Given the description of an element on the screen output the (x, y) to click on. 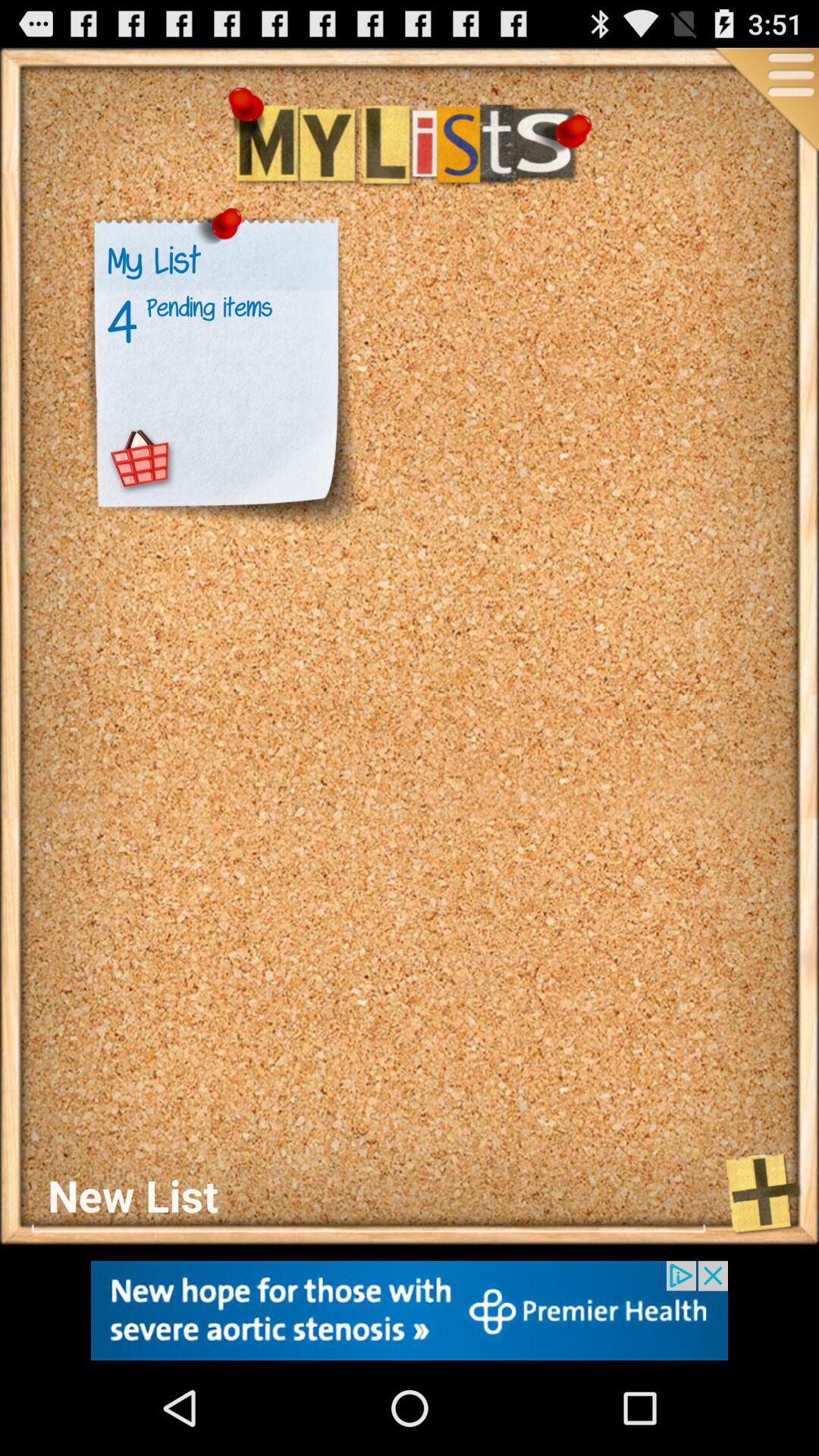
see new list (368, 1195)
